Given the description of an element on the screen output the (x, y) to click on. 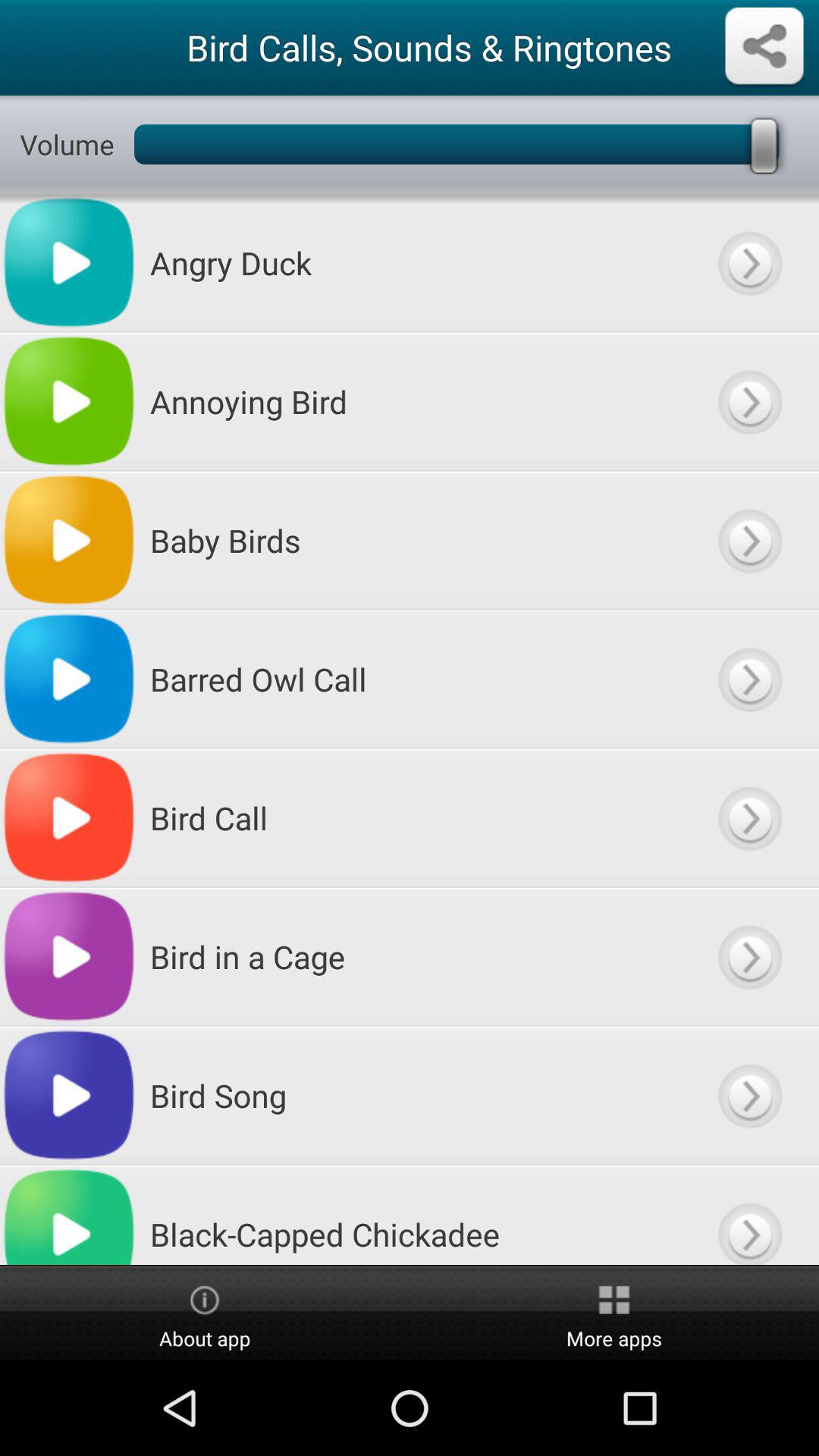
more options (749, 540)
